Given the description of an element on the screen output the (x, y) to click on. 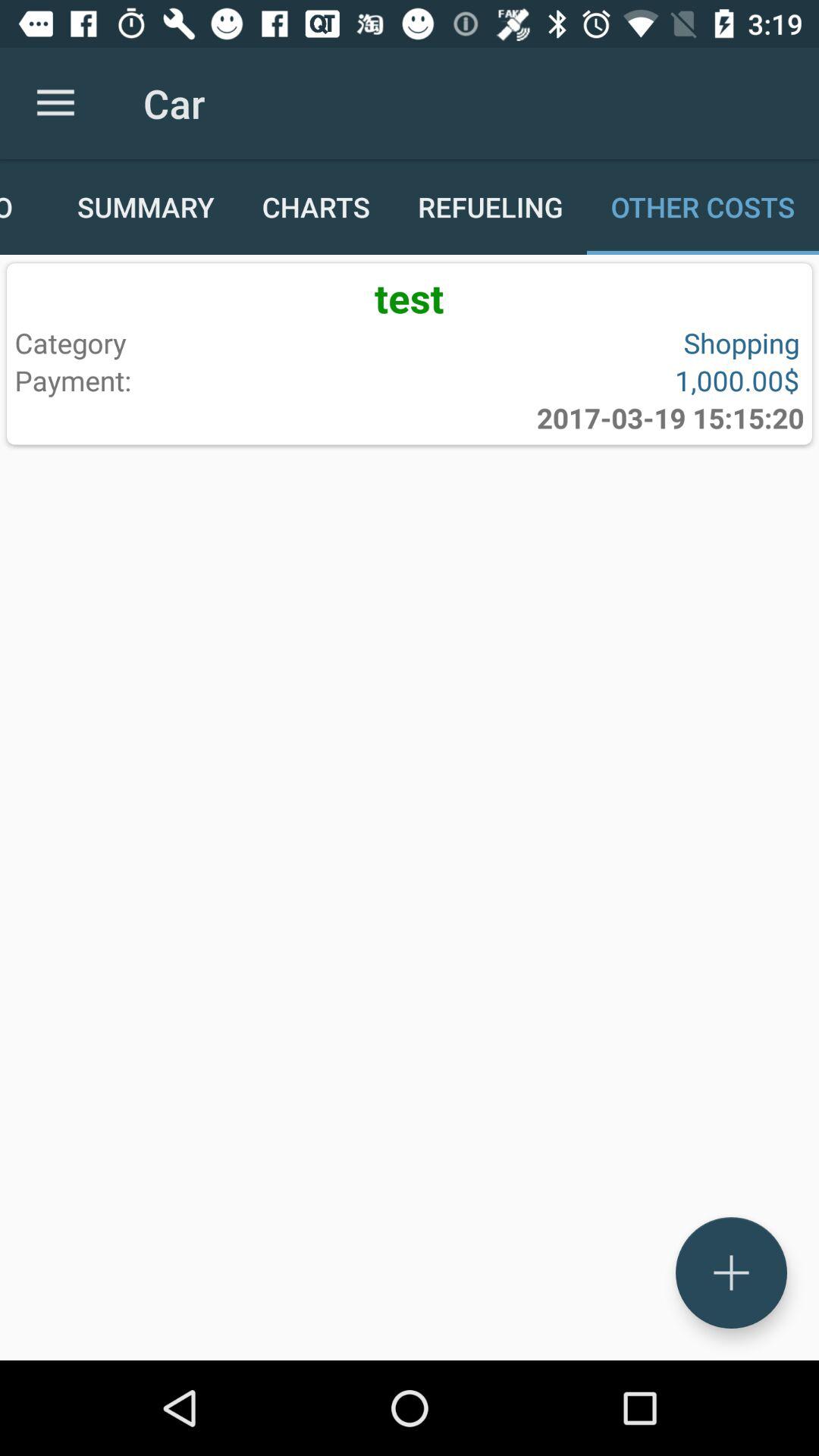
turn on item to the right of category icon (601, 342)
